Given the description of an element on the screen output the (x, y) to click on. 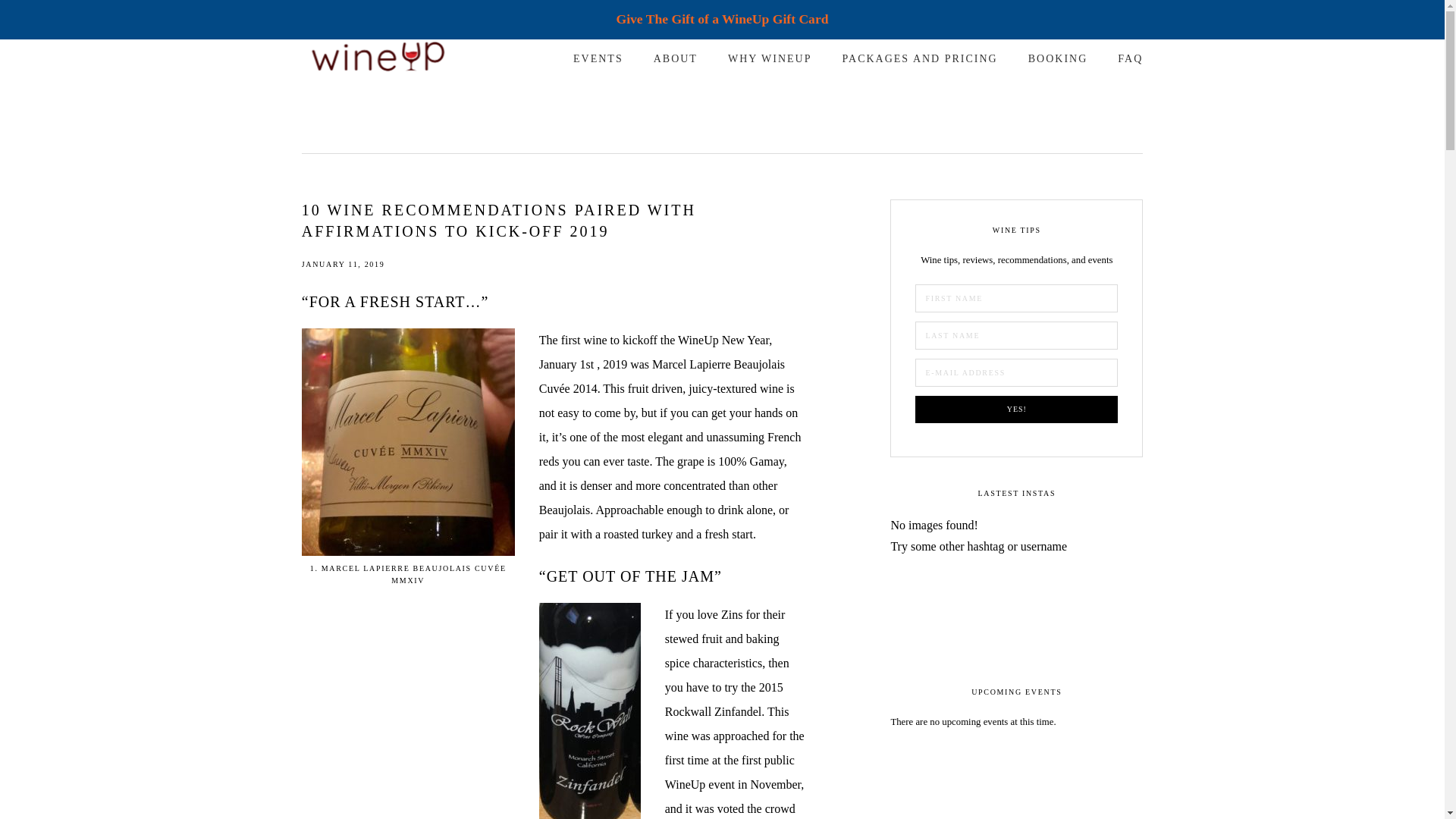
WINEUP (376, 58)
Give The Gift of a WineUp Gift Card (721, 18)
Yes!  (1016, 409)
PACKAGES AND PRICING (920, 57)
Yes!  (1016, 409)
WHY WINEUP (770, 57)
